Given the description of an element on the screen output the (x, y) to click on. 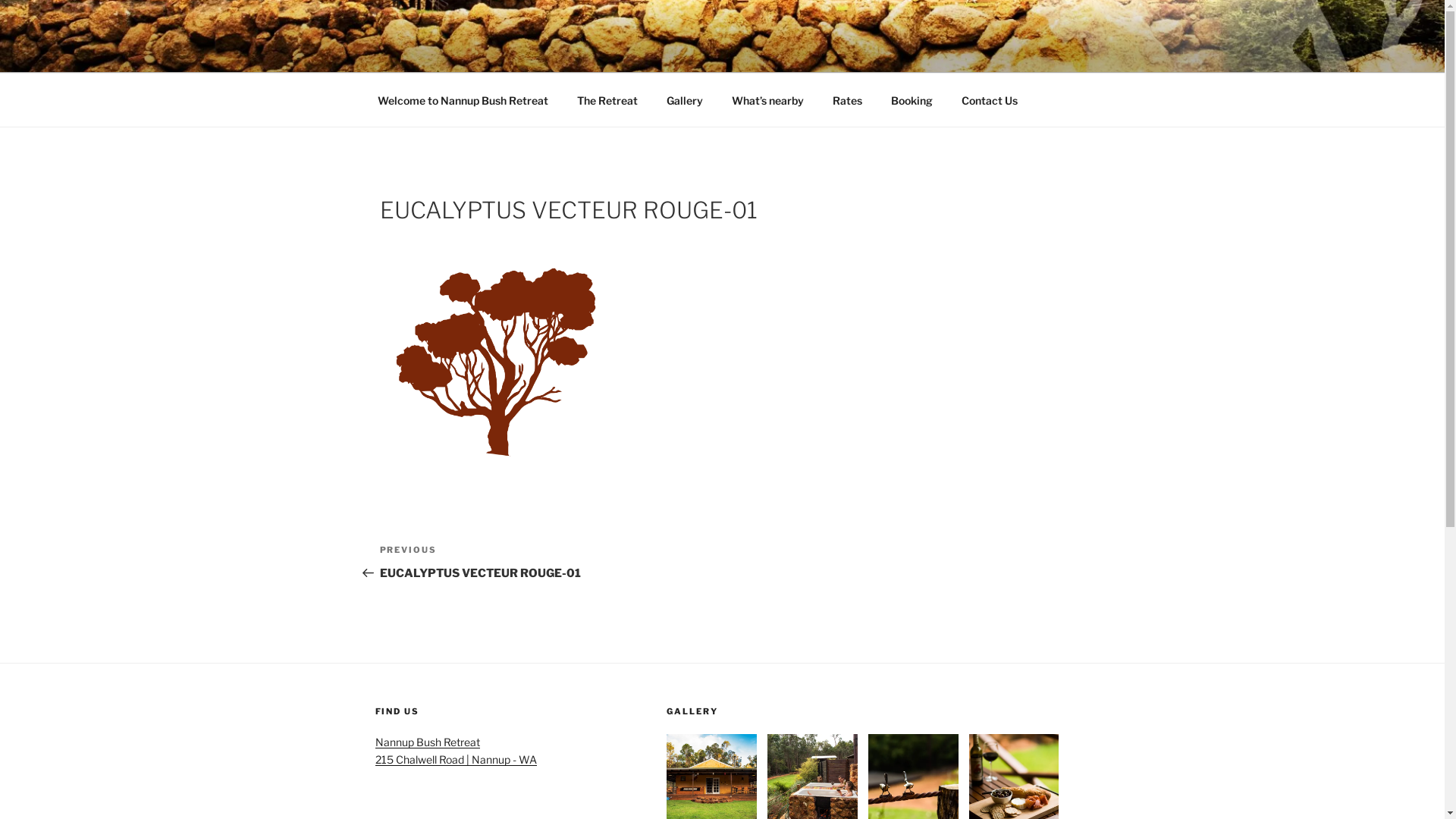
NANNUP BUSH RETREAT Element type: text (571, 52)
Booking Element type: text (912, 100)
The Retreat Element type: text (607, 100)
Contact Us Element type: text (988, 100)
Gallery Element type: text (684, 100)
Nannup Bush Retreat
215 Chalwell Road | Nannup - WA Element type: text (455, 750)
Rates Element type: text (847, 100)
Previous Post
PREVIOUS
EUCALYPTUS VECTEUR ROUGE-01 Element type: text (550, 561)
Welcome to Nannup Bush Retreat Element type: text (462, 100)
